Given the description of an element on the screen output the (x, y) to click on. 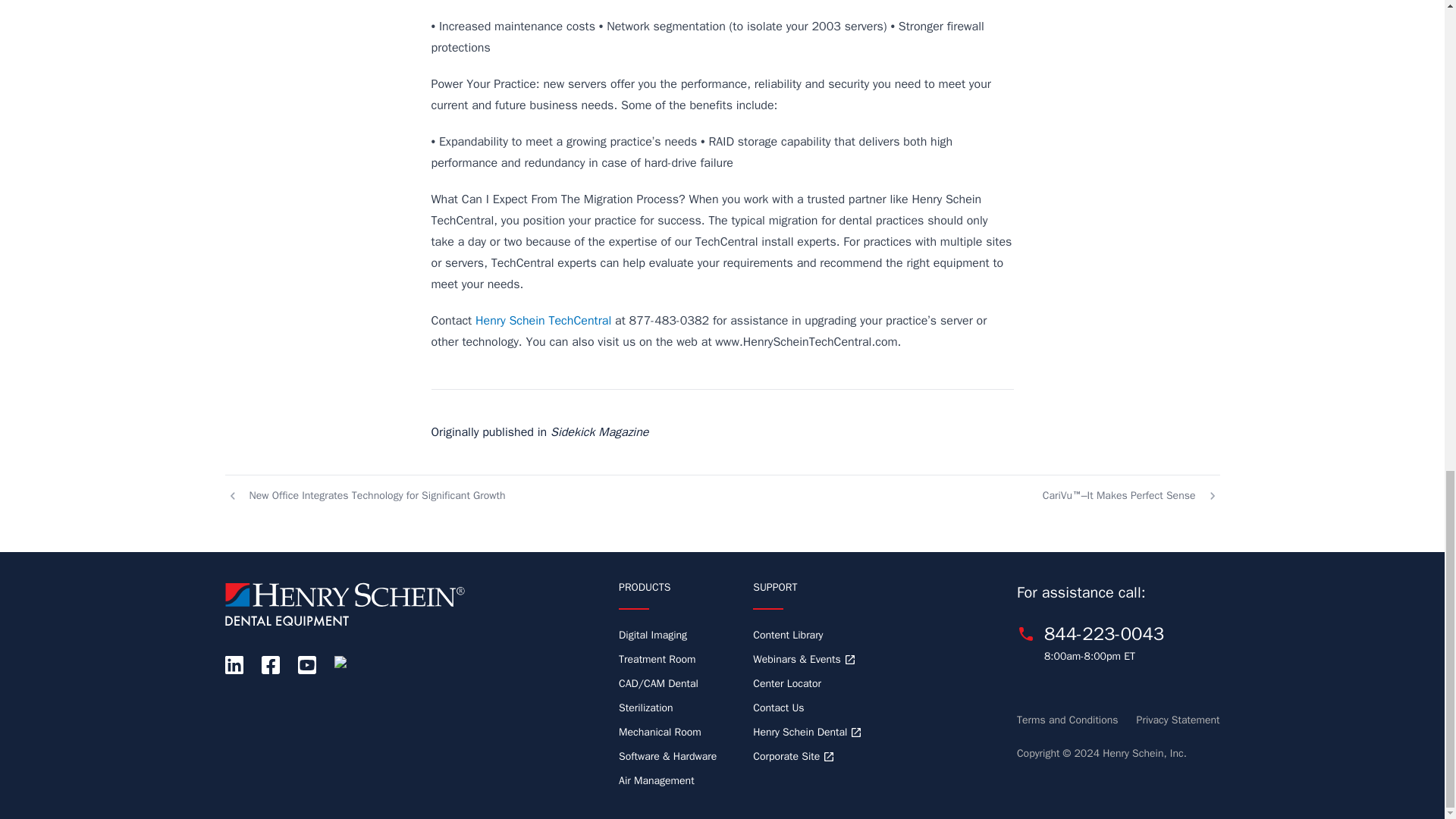
Privacy Statement (1178, 720)
Sterilization (645, 707)
Content Library (787, 634)
Contact Us (777, 707)
Air Management (656, 780)
New Office Integrates Technology for Significant Growth (366, 489)
844-223-0043 (1103, 633)
Digital Imaging (652, 634)
Henry Schein TechCentral (543, 320)
Henry Schein Dental (806, 732)
Mechanical Room (659, 732)
Treatment Room (656, 659)
Center Locator (786, 683)
Corporate Site (793, 756)
Terms and Conditions (1067, 720)
